Given the description of an element on the screen output the (x, y) to click on. 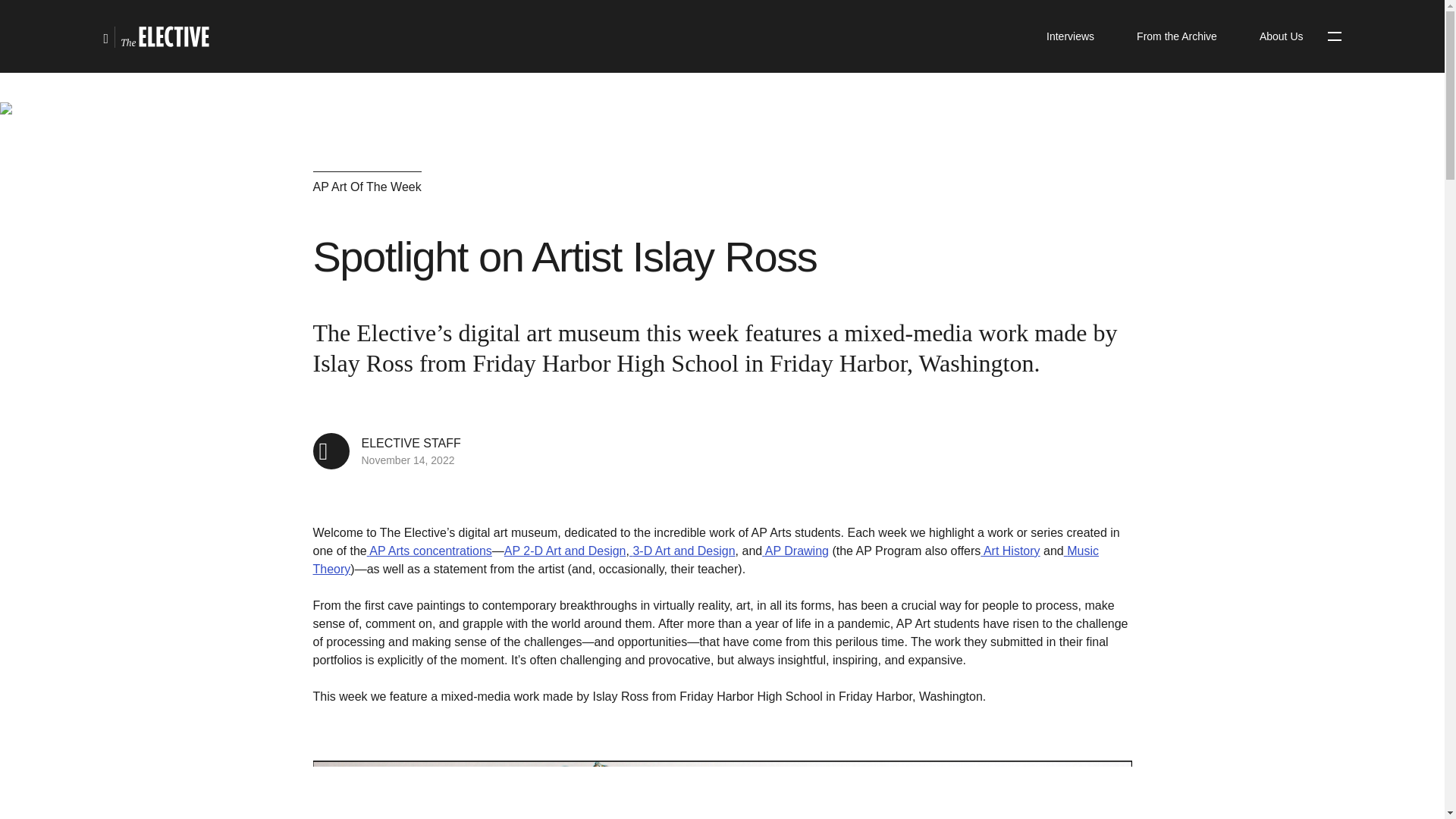
Interviews (1069, 36)
From the Archive (1176, 36)
Music Theory (705, 559)
AP Arts concentrations (429, 550)
Art History (1009, 550)
Open Site Navigation (386, 451)
About Us (1333, 35)
3-D Art and Design (1281, 36)
AP Drawing (681, 550)
AP 2-D Art and Design (794, 550)
